Given the description of an element on the screen output the (x, y) to click on. 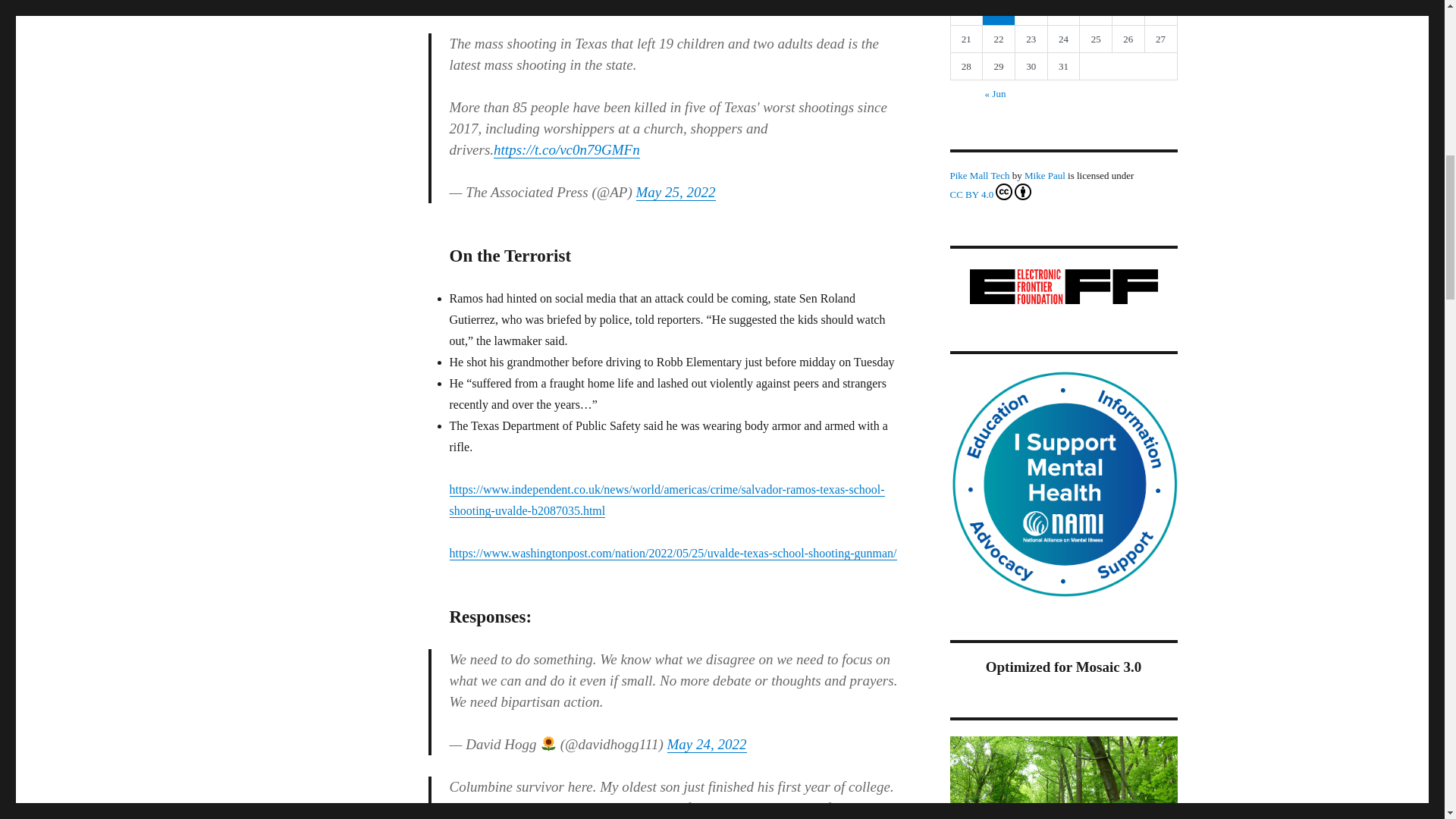
May 24, 2022 (706, 744)
May 25, 2022 (674, 191)
